Given the description of an element on the screen output the (x, y) to click on. 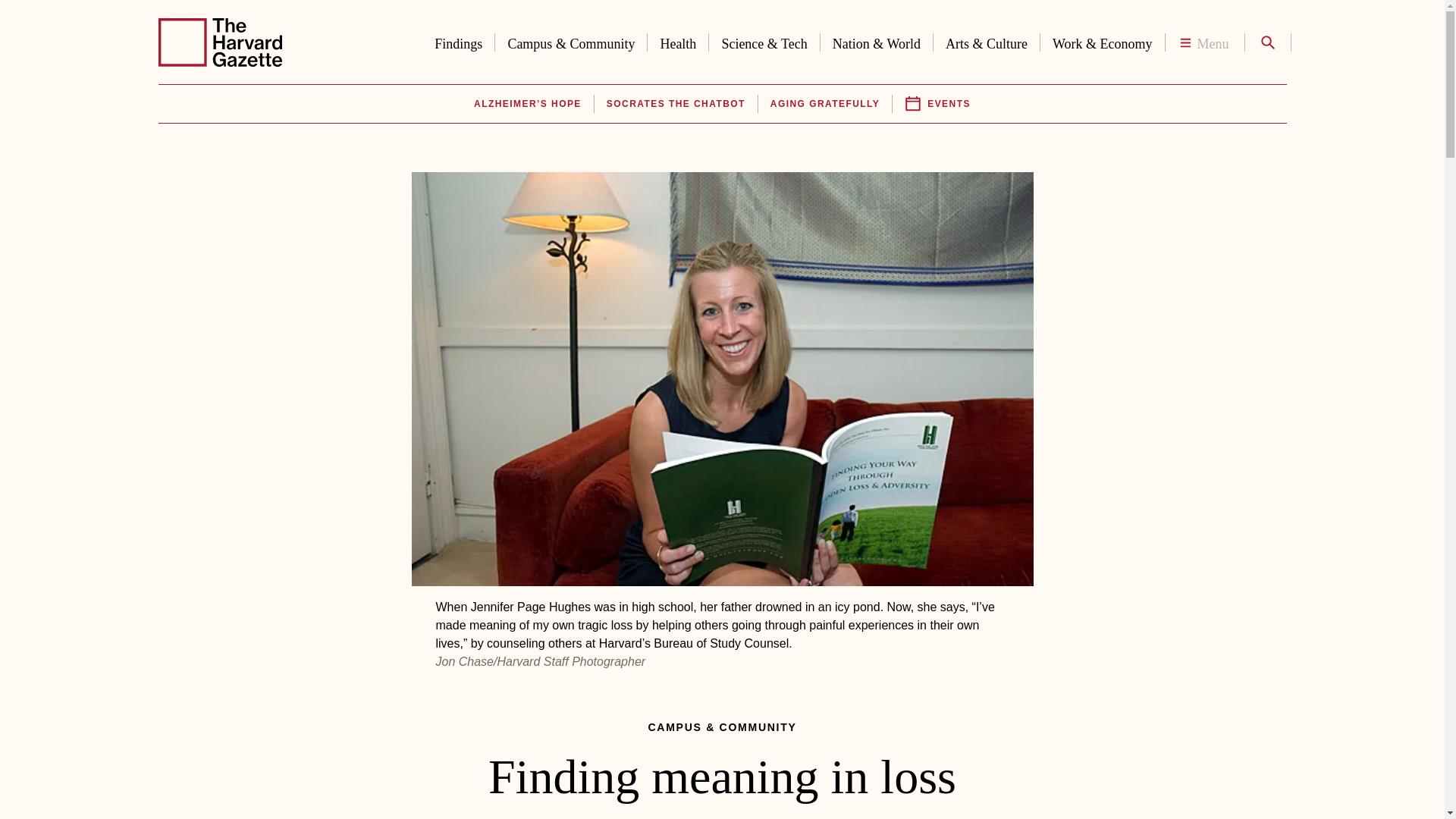
Search (1266, 42)
SOCRATES THE CHATBOT (675, 103)
Menu (1204, 42)
Findings (457, 41)
AGING GRATEFULLY (824, 103)
Health (677, 41)
